Given the description of an element on the screen output the (x, y) to click on. 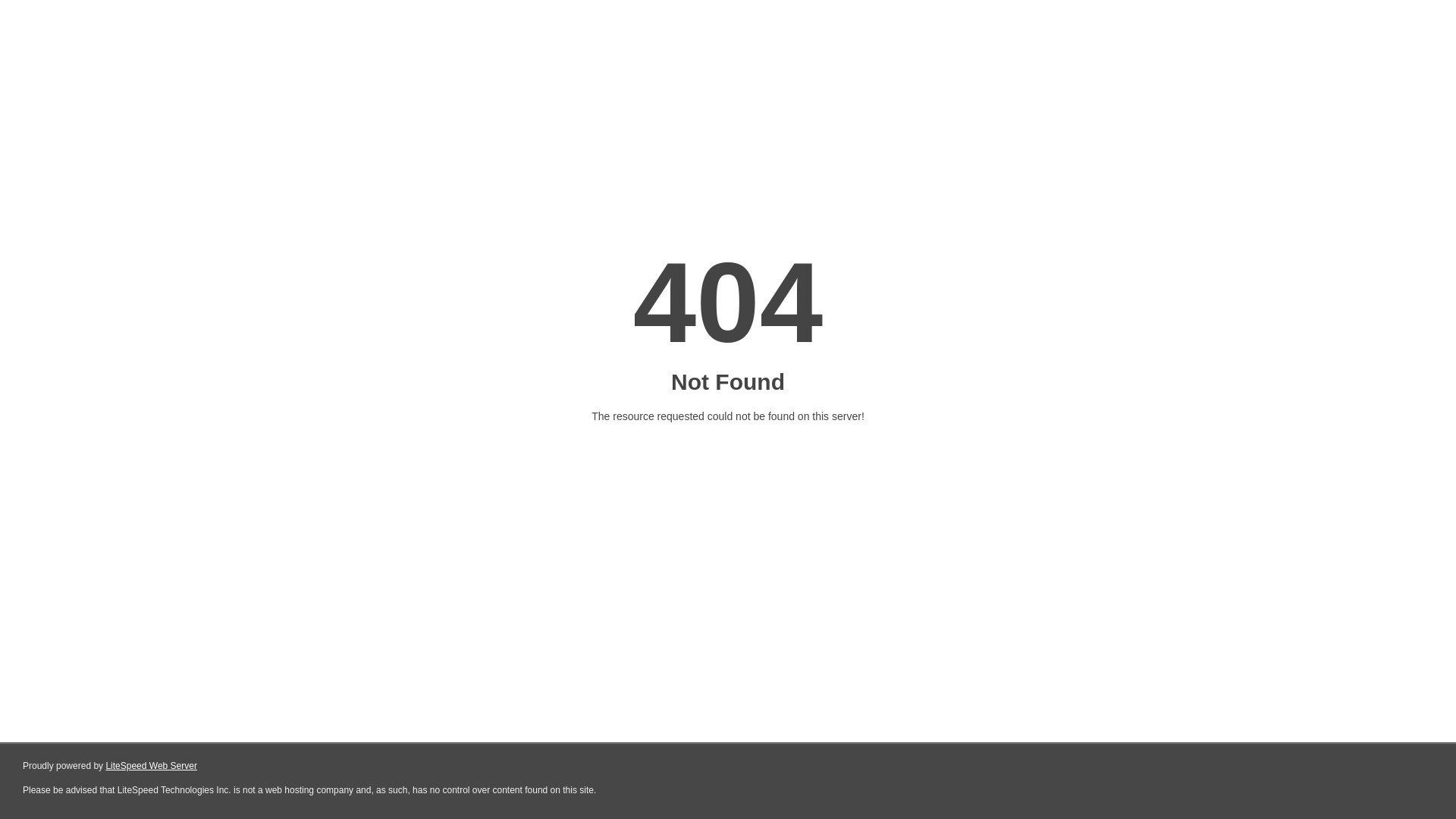
LiteSpeed Web Server Element type: text (151, 765)
